Given the description of an element on the screen output the (x, y) to click on. 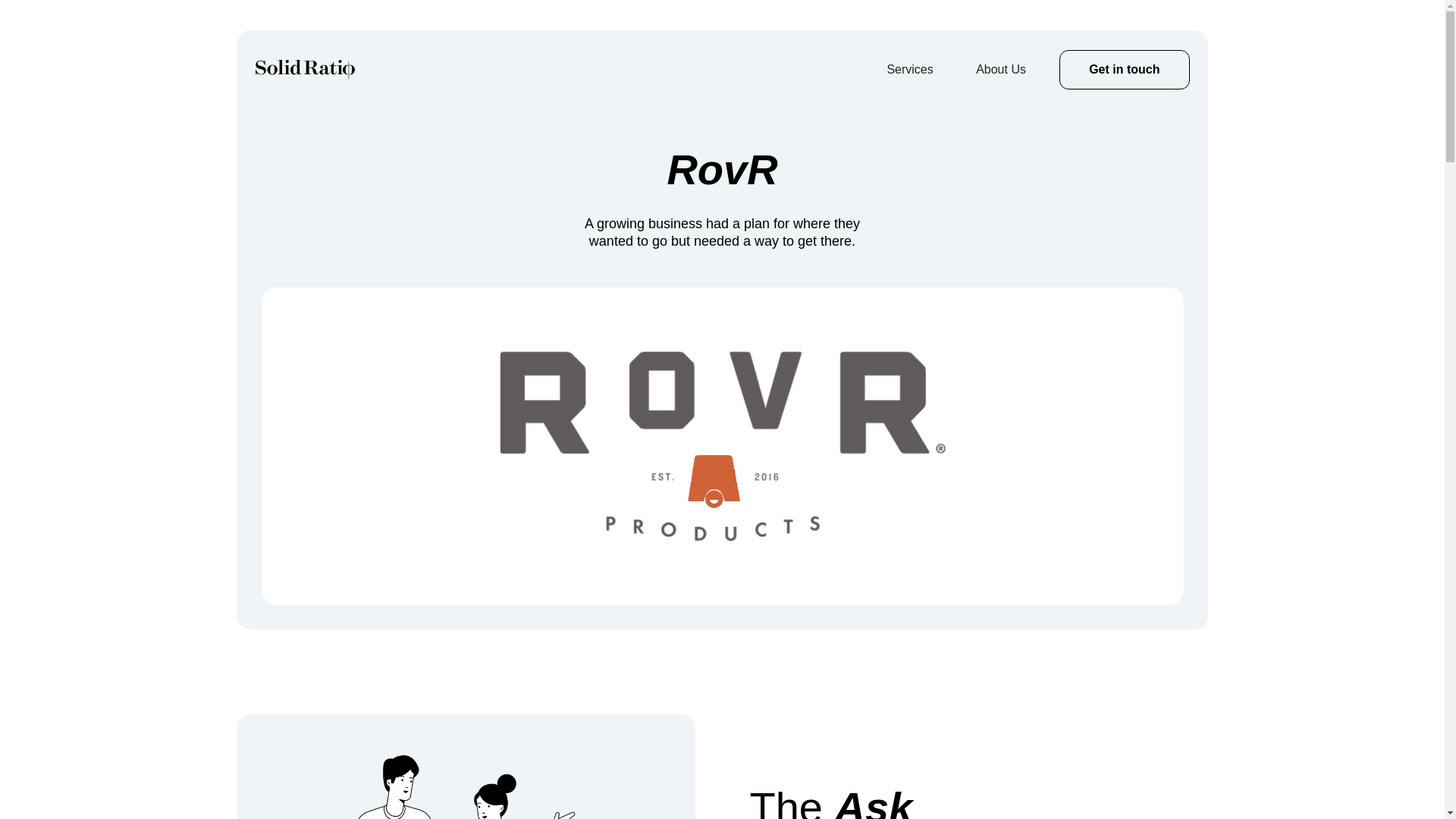
About Us (1000, 69)
Services (909, 69)
Get in touch (1124, 69)
